Given the description of an element on the screen output the (x, y) to click on. 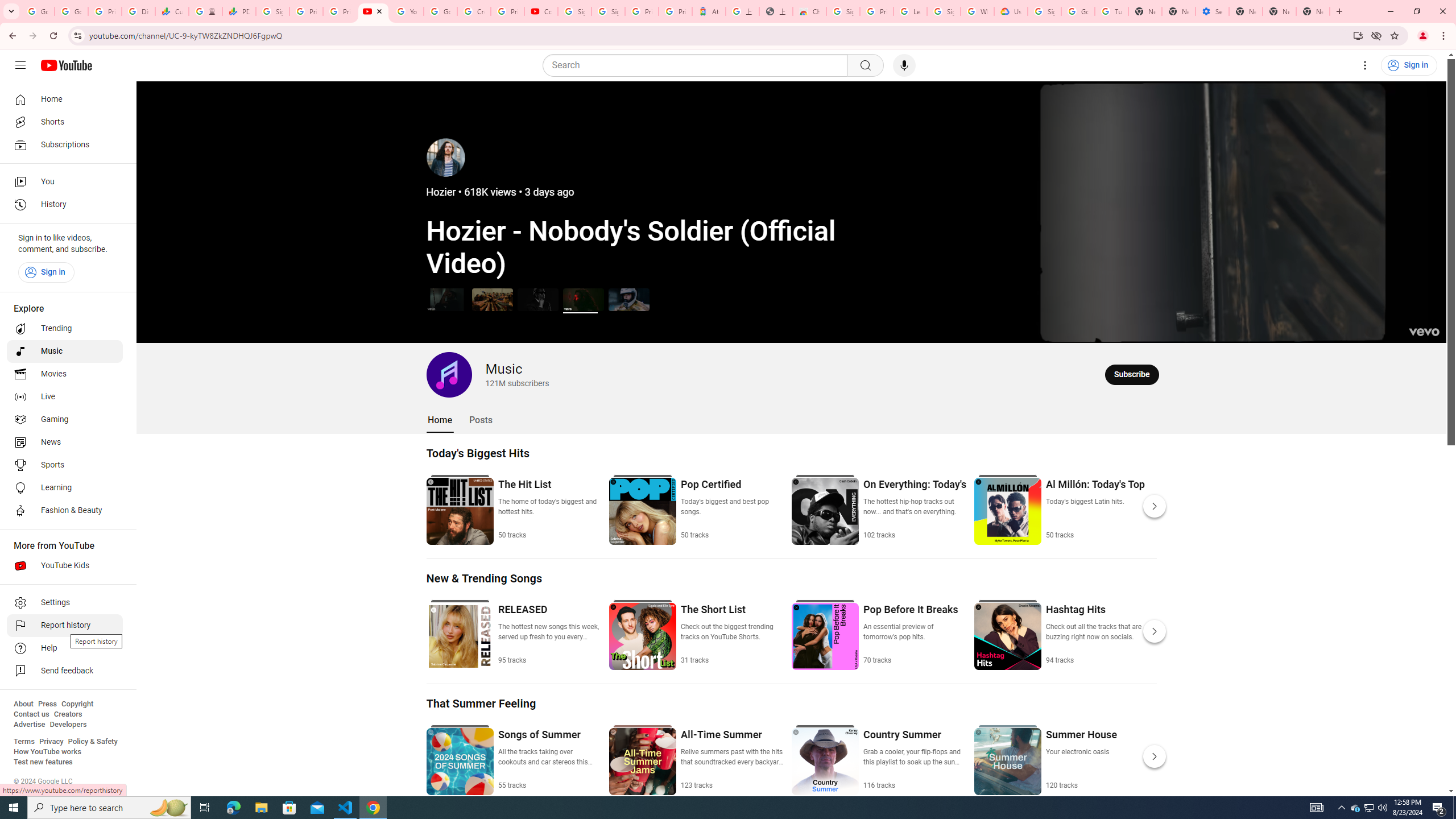
Channel watermark (1424, 331)
Test new features (42, 761)
Turn cookies on or off - Computer - Google Account Help (1111, 11)
Content Creator Programs & Opportunities - YouTube Creators (541, 11)
History (64, 204)
Pop Certified Today's biggest and best pop songs. 50 tracks (731, 508)
New Tab (1313, 11)
